Given the description of an element on the screen output the (x, y) to click on. 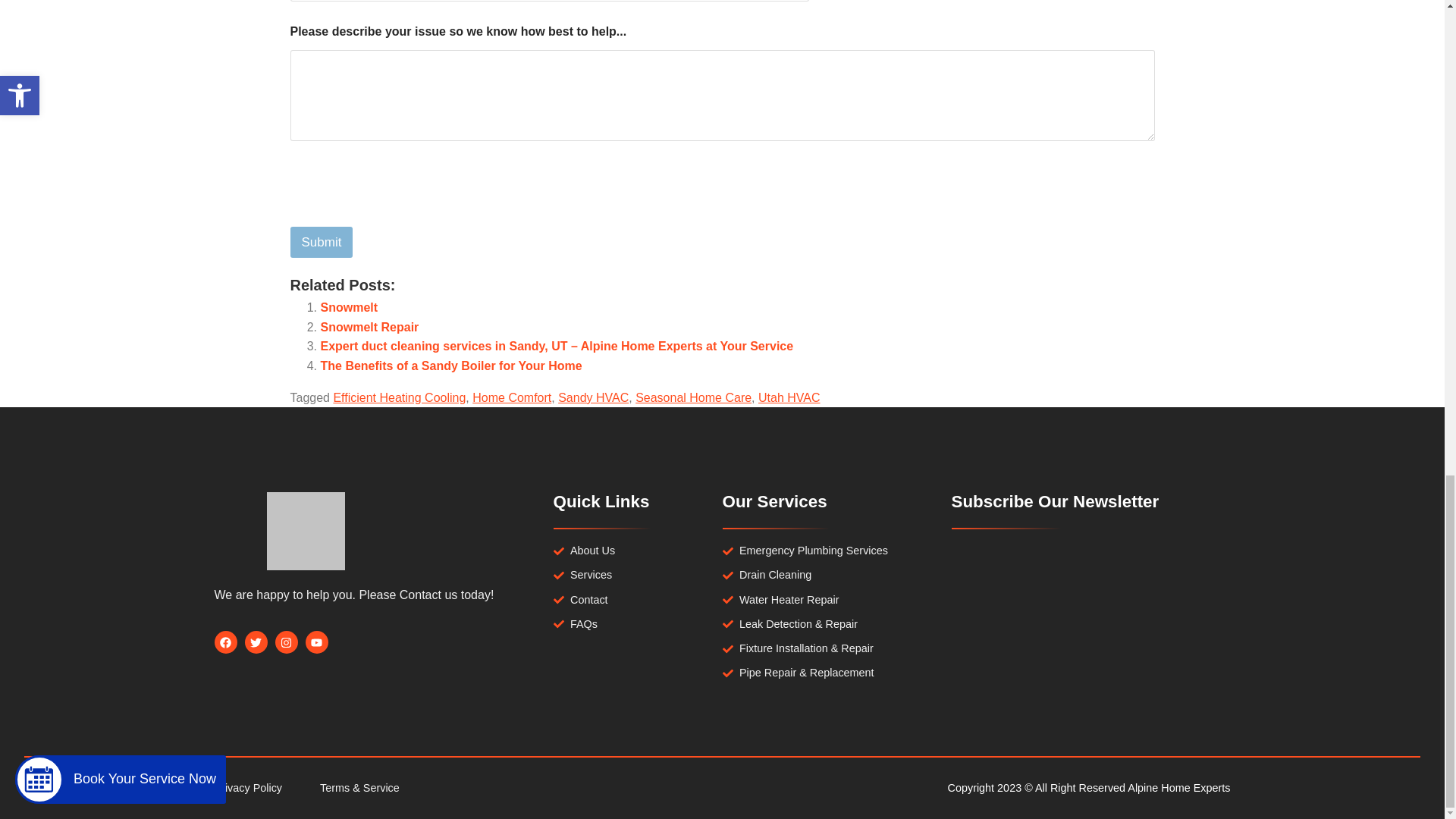
Snowmelt (348, 307)
Submit (320, 241)
Snowmelt Repair (369, 327)
Snowmelt (348, 307)
Home Comfort (511, 397)
reCAPTCHA (404, 216)
The Benefits of a Sandy Boiler for Your Home (450, 365)
Snowmelt Repair (369, 327)
The Benefits of a Sandy Boiler for Your Home (450, 365)
Efficient Heating Cooling (399, 397)
